Given the description of an element on the screen output the (x, y) to click on. 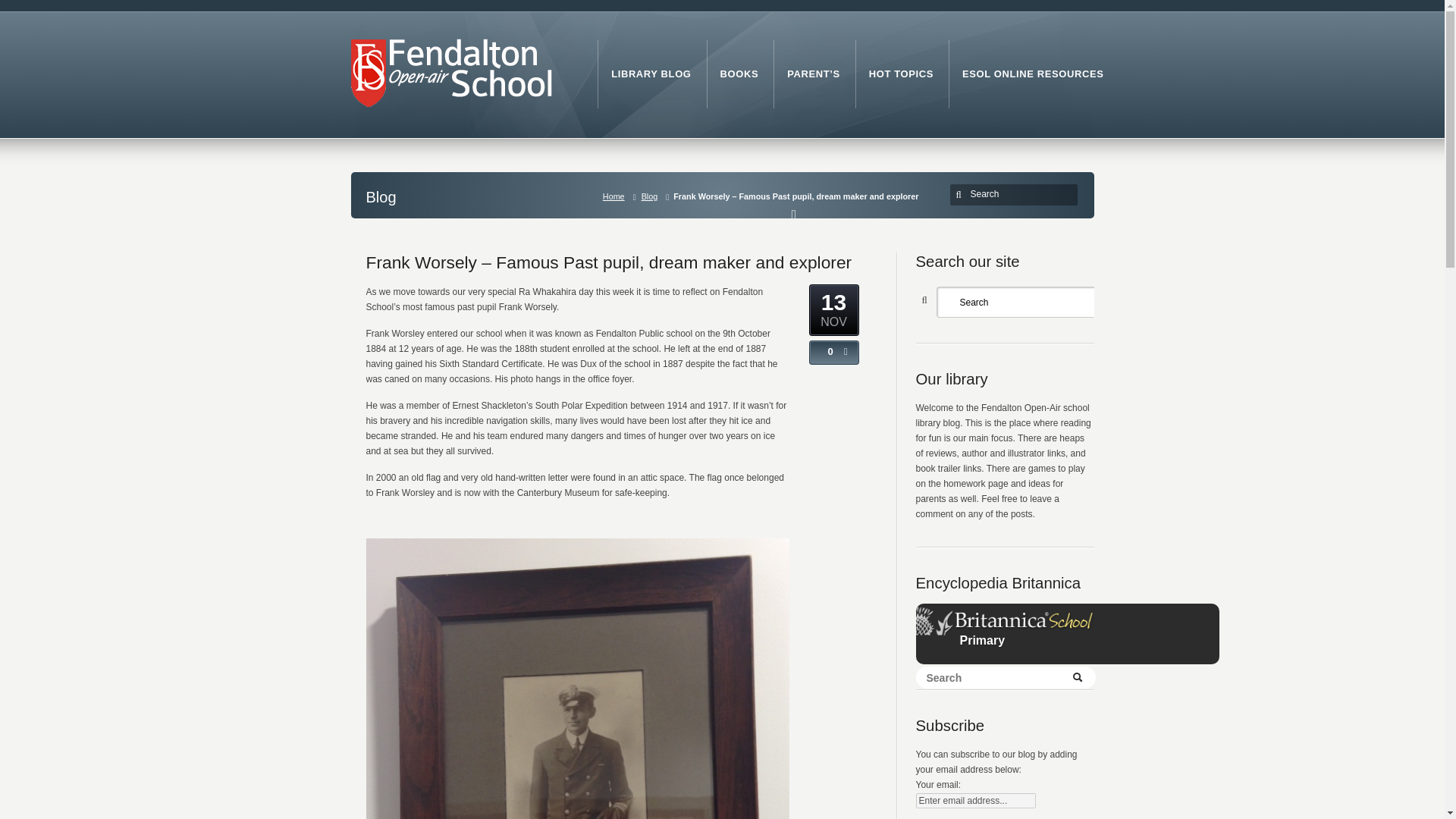
Search (1016, 194)
search (960, 194)
Primary (966, 648)
search (960, 194)
Blog (652, 195)
HOT TOPICS (901, 73)
search (960, 194)
LIBRARY BLOG (650, 73)
BOOKS (739, 73)
Search (1019, 301)
0 (826, 351)
ESOL ONLINE RESOURCES (1032, 73)
Home (616, 195)
Enter email address... (975, 800)
